Given the description of an element on the screen output the (x, y) to click on. 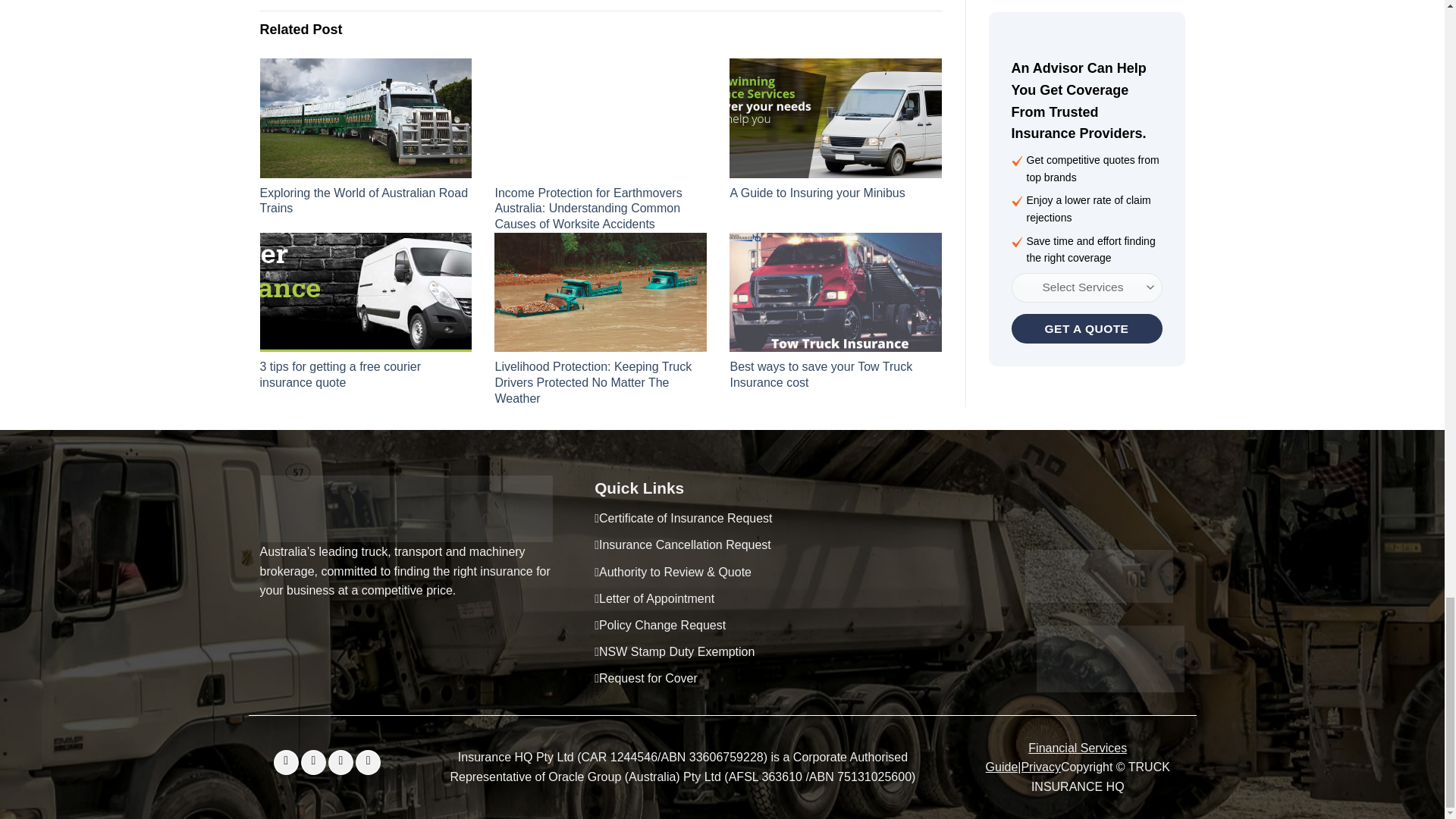
3 tips for getting a free courier insurance quote (339, 374)
A Guide to Insuring your Minibus (816, 192)
Best ways to save your Tow Truck Insurance cost (835, 292)
Exploring the World of Australian Road Trains (363, 200)
Best ways to save your Tow Truck Insurance cost (820, 374)
3 tips for getting a free courier insurance quote (365, 292)
A Guide to Insuring your Minibus (835, 117)
